Given the description of an element on the screen output the (x, y) to click on. 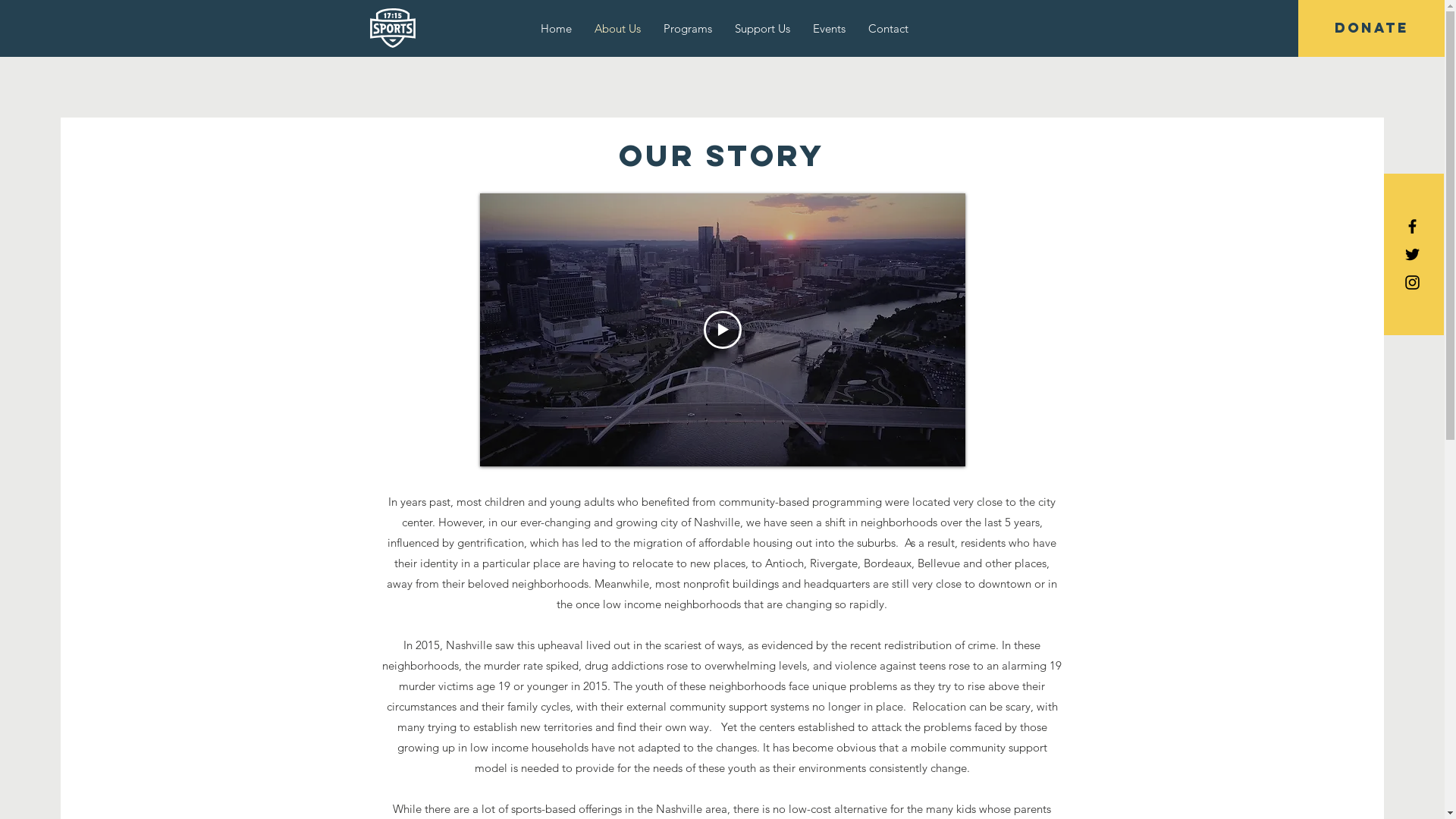
DONATE Element type: text (1371, 28)
Contact Element type: text (887, 28)
Events Element type: text (828, 28)
Home Element type: text (556, 28)
About Us Element type: text (617, 28)
Programs Element type: text (687, 28)
Support Us Element type: text (762, 28)
